Given the description of an element on the screen output the (x, y) to click on. 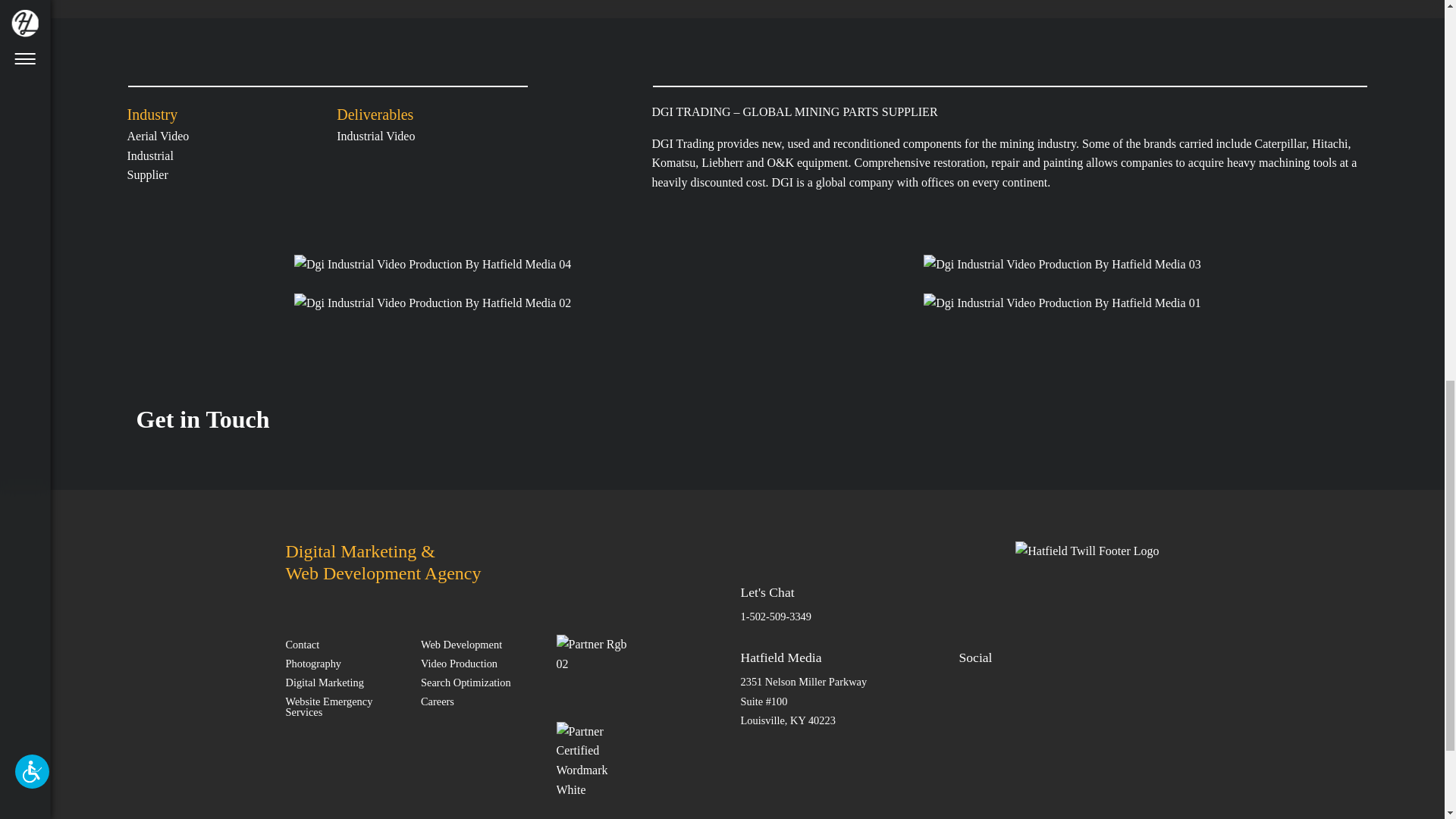
Web Development (479, 643)
Web Development (479, 643)
Careers (479, 700)
Contact (344, 643)
Search Optimization (479, 681)
Photography (344, 662)
Digital Marketing (344, 681)
Contact (344, 643)
Video Production (479, 662)
1-502-509-3349 (774, 616)
Website Emergency Services (344, 706)
